Given the description of an element on the screen output the (x, y) to click on. 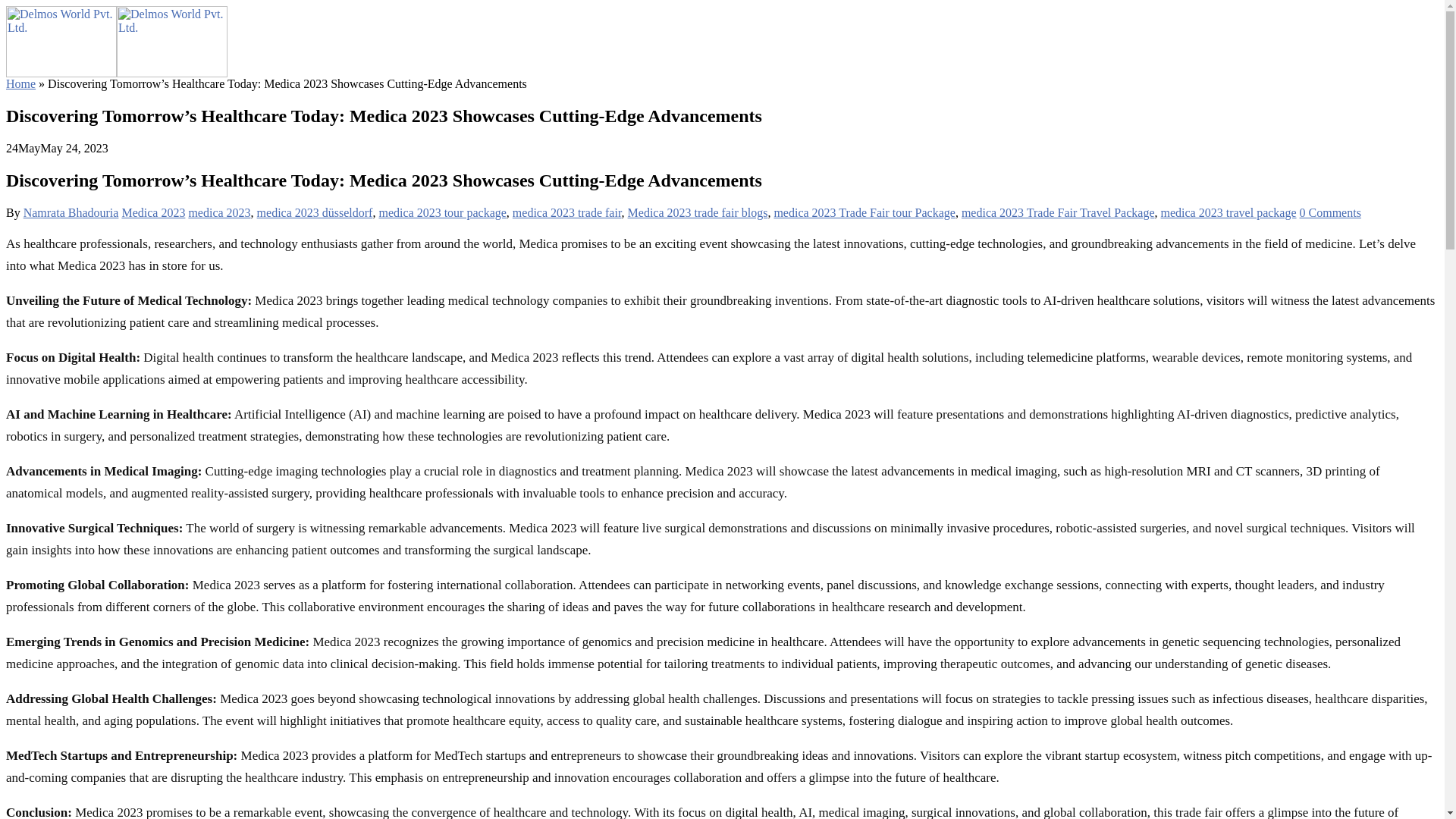
medica 2023 travel package (1228, 212)
Medica 2023 trade fair blogs (697, 212)
medica 2023 tour package (441, 212)
medica 2023 trade fair (566, 212)
Home (19, 83)
medica 2023 (218, 212)
0 Comments (1330, 212)
Namrata Bhadouria (71, 212)
medica 2023 Trade Fair tour Package (864, 212)
Posts by Namrata Bhadouria (71, 212)
